Given the description of an element on the screen output the (x, y) to click on. 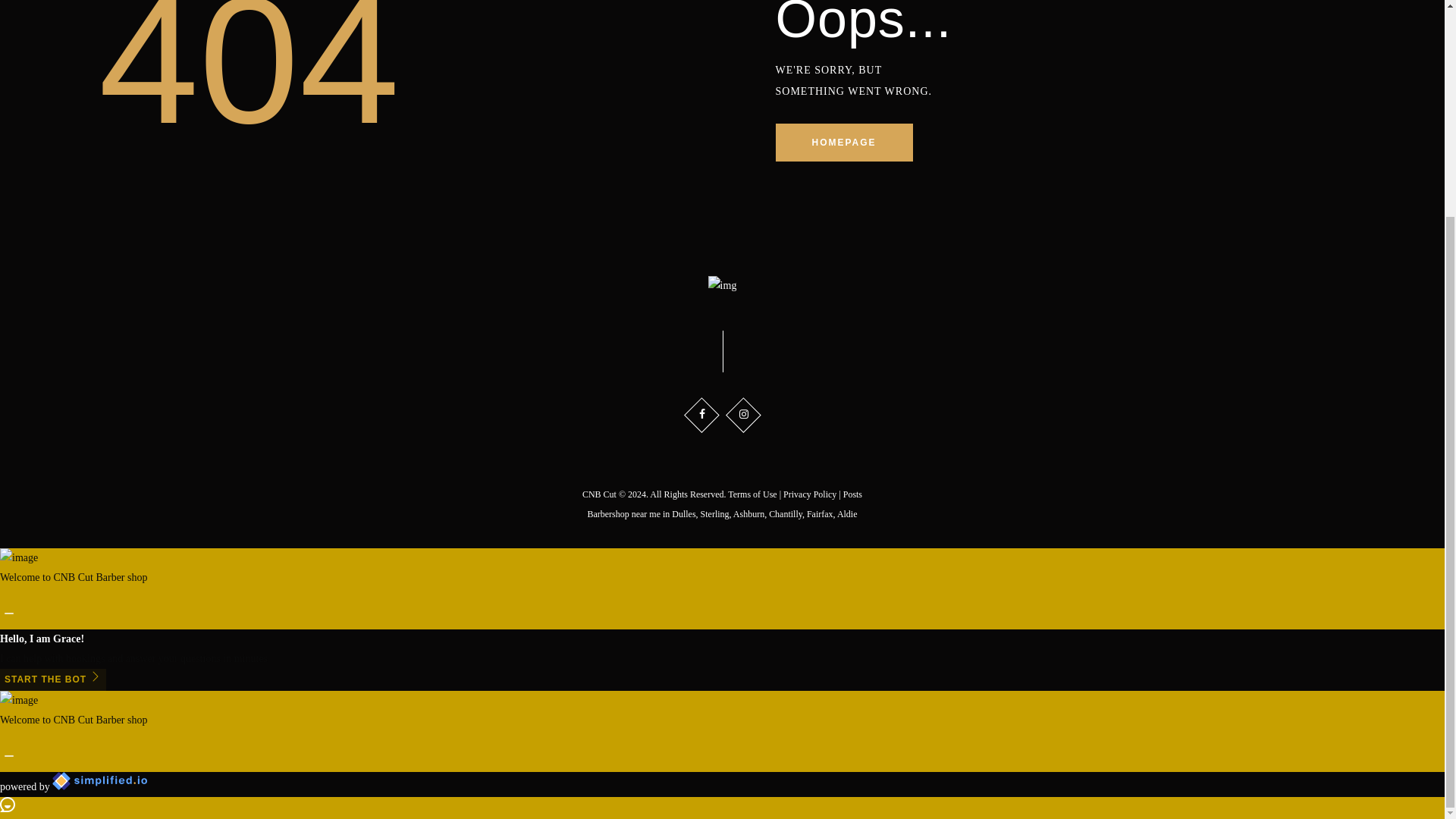
Posts (852, 493)
Privacy Policy (809, 493)
HOMEPAGE (843, 142)
CNB Cut (598, 493)
Terms of Use (752, 493)
